Given the description of an element on the screen output the (x, y) to click on. 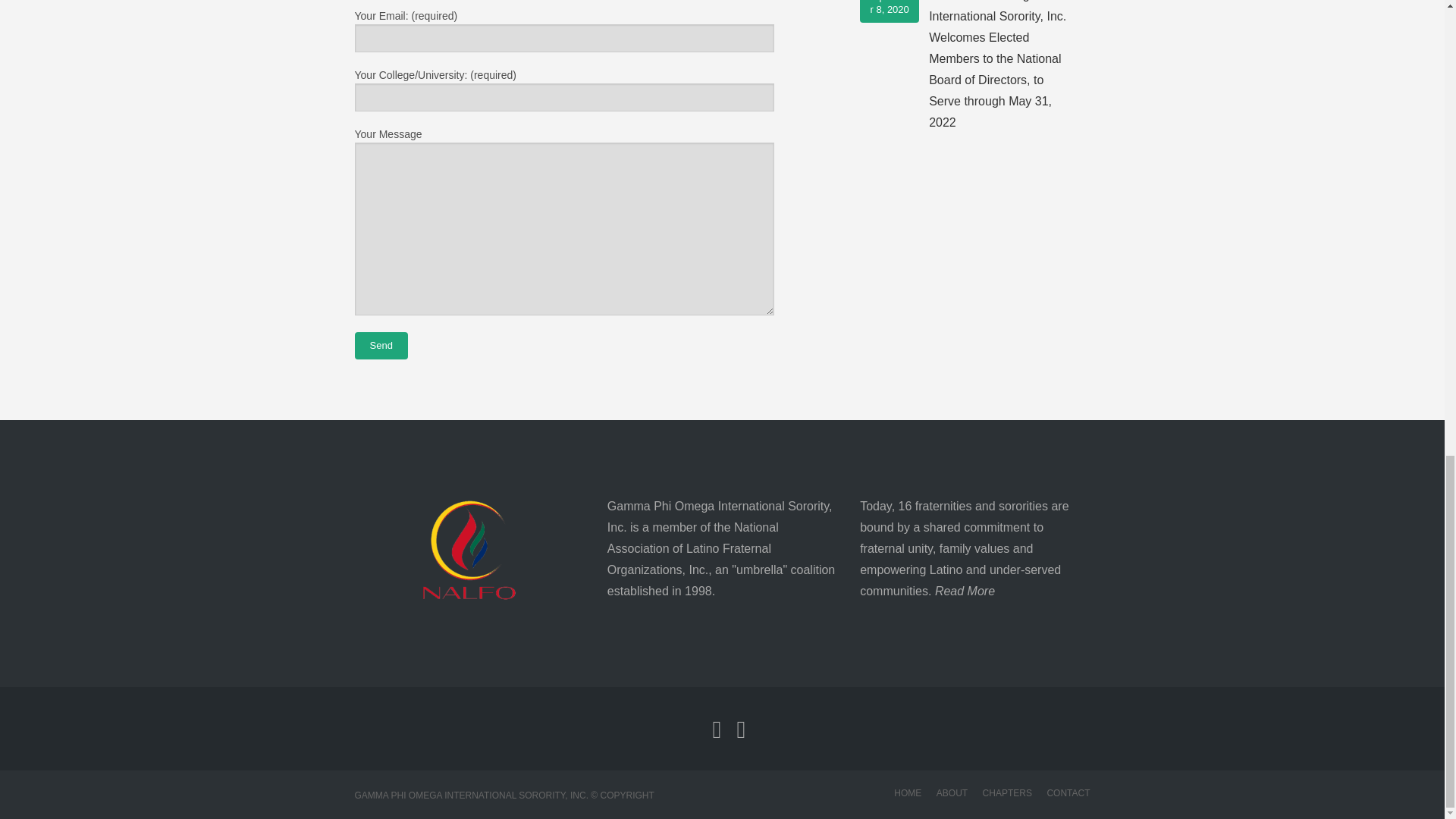
Send (381, 345)
Read More (964, 590)
Send (381, 345)
